Given the description of an element on the screen output the (x, y) to click on. 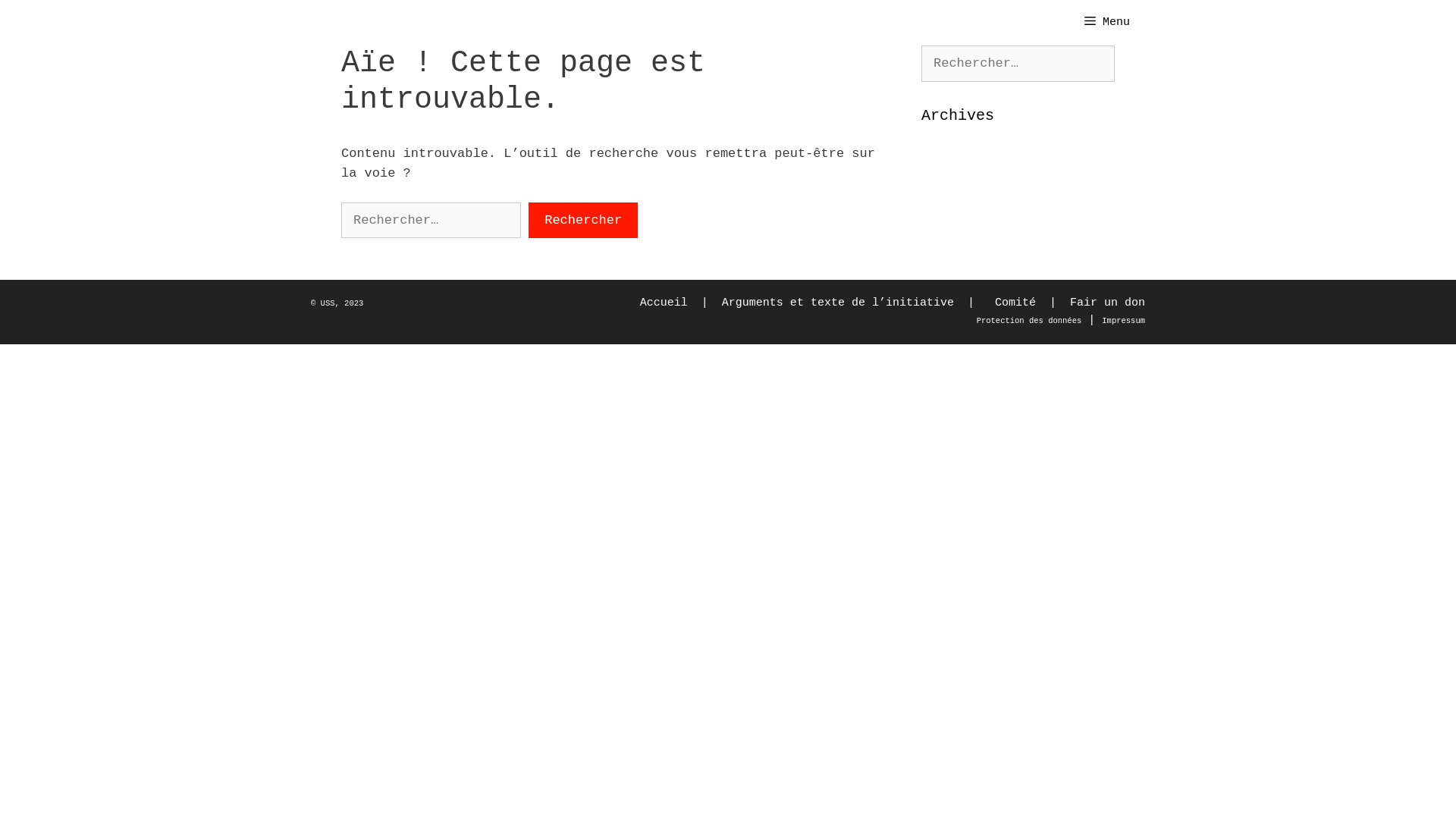
USS Element type: text (327, 302)
Rechercher Element type: text (54, 18)
Rechercher Element type: text (582, 219)
Fair un don Element type: text (1107, 302)
Menu Element type: text (1107, 22)
Accueil Element type: text (663, 302)
Impressum Element type: text (1123, 319)
